Given the description of an element on the screen output the (x, y) to click on. 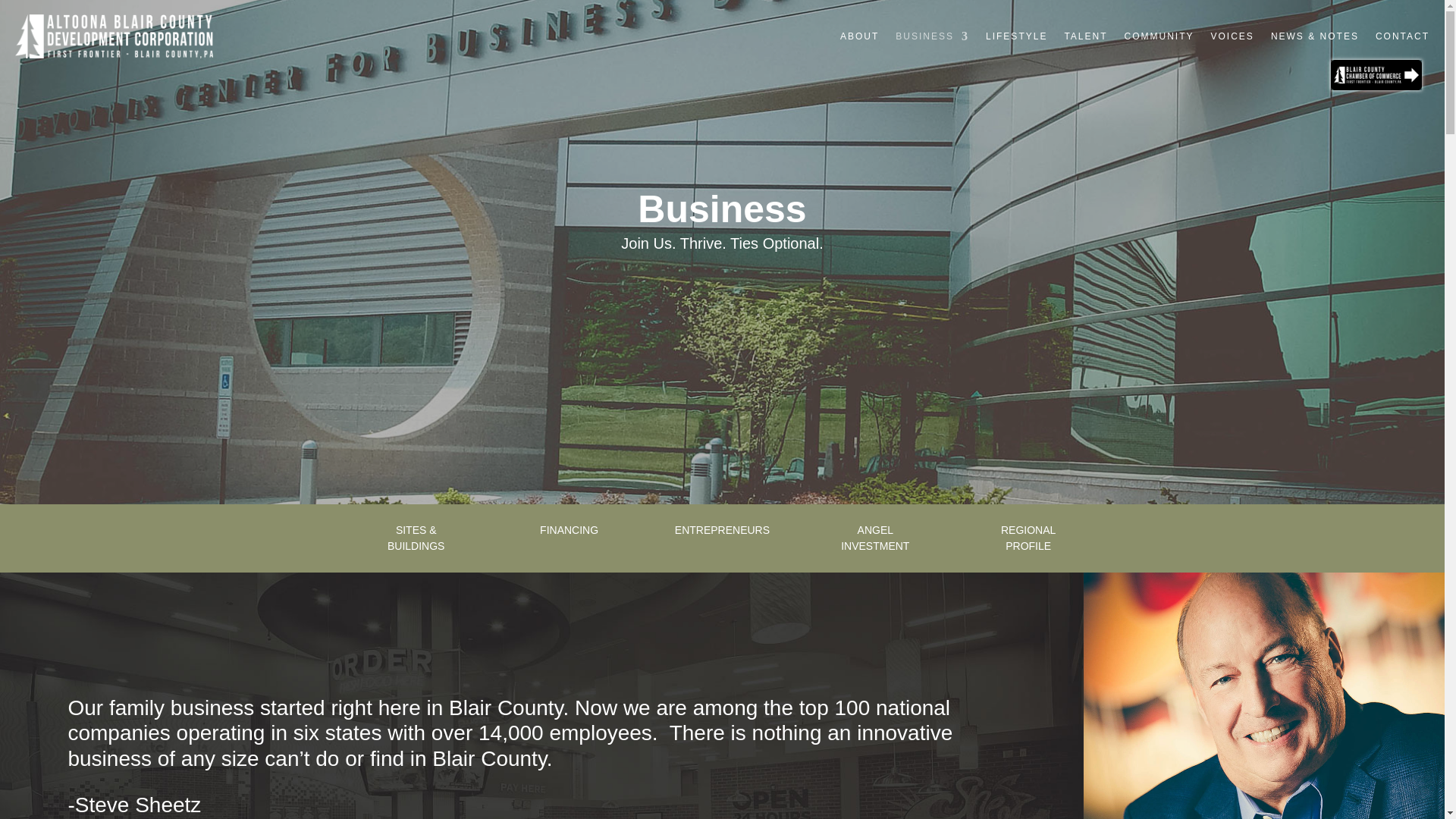
COMMUNITY (1158, 36)
REGIONAL PROFILE (1028, 538)
CONTACT (1402, 36)
ANGEL INVESTMENT (874, 538)
FINANCING (569, 530)
BUSINESS (932, 36)
ENTREPRENEURS (722, 530)
LIFESTYLE (1015, 36)
